Given the description of an element on the screen output the (x, y) to click on. 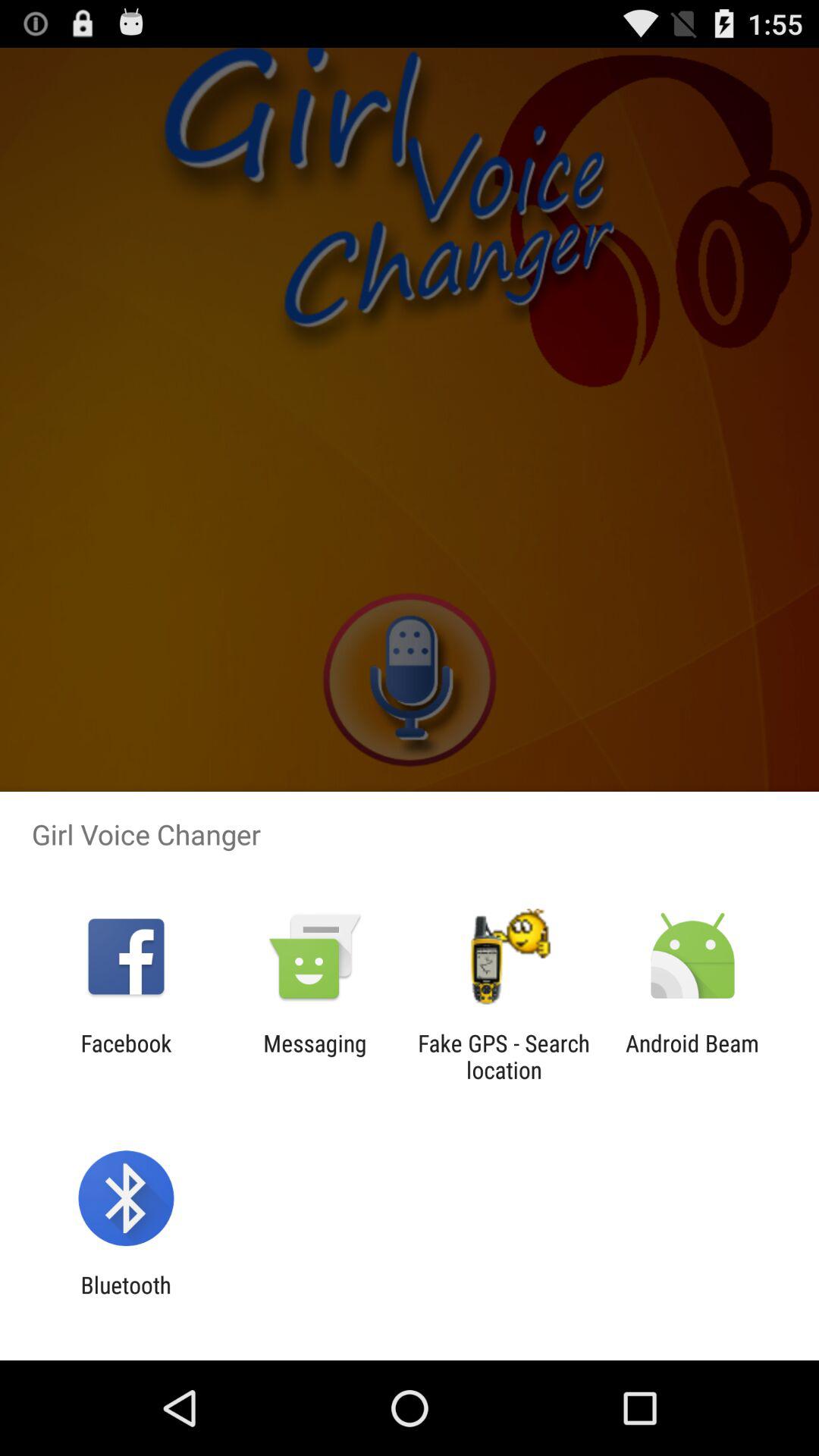
click the app to the right of the messaging app (503, 1056)
